Given the description of an element on the screen output the (x, y) to click on. 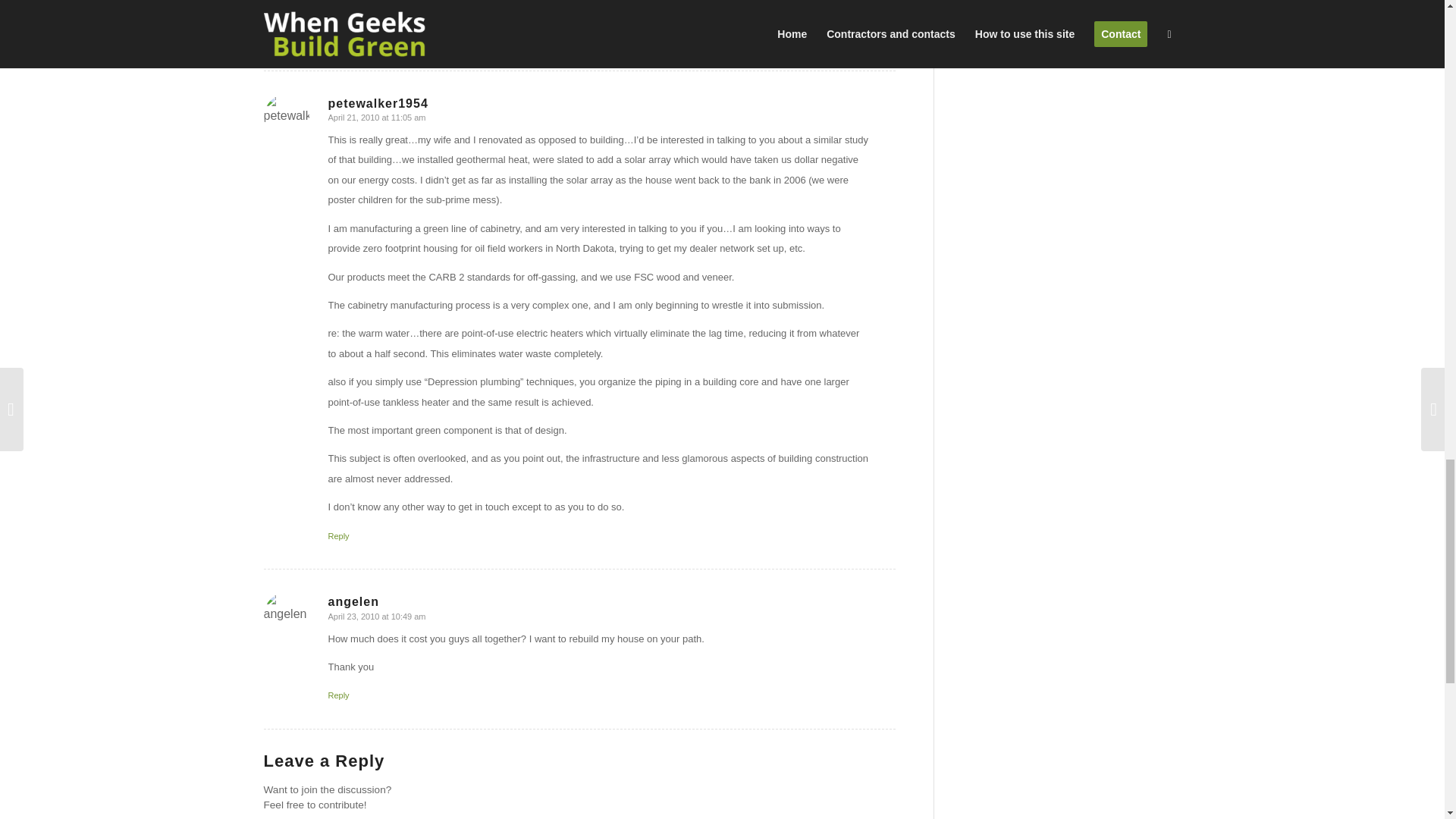
April 21, 2010 at 11:05 am (376, 117)
Reply (338, 695)
Reply (338, 36)
Reply (338, 535)
April 23, 2010 at 10:49 am (376, 615)
